Given the description of an element on the screen output the (x, y) to click on. 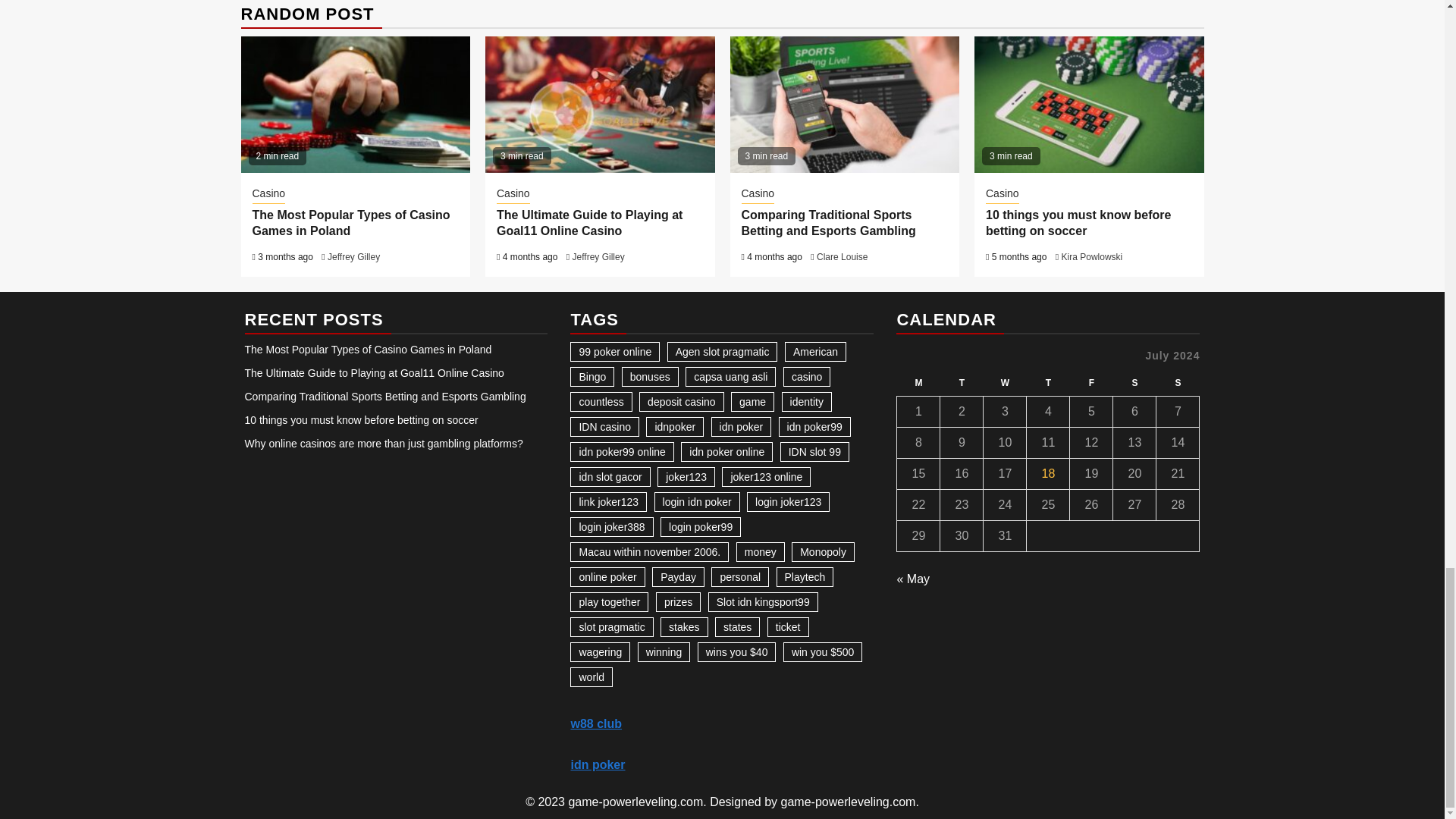
Thursday (1048, 383)
Wednesday (1005, 383)
Monday (918, 383)
Tuesday (962, 383)
Saturday (1134, 383)
Sunday (1177, 383)
Friday (1091, 383)
